Given the description of an element on the screen output the (x, y) to click on. 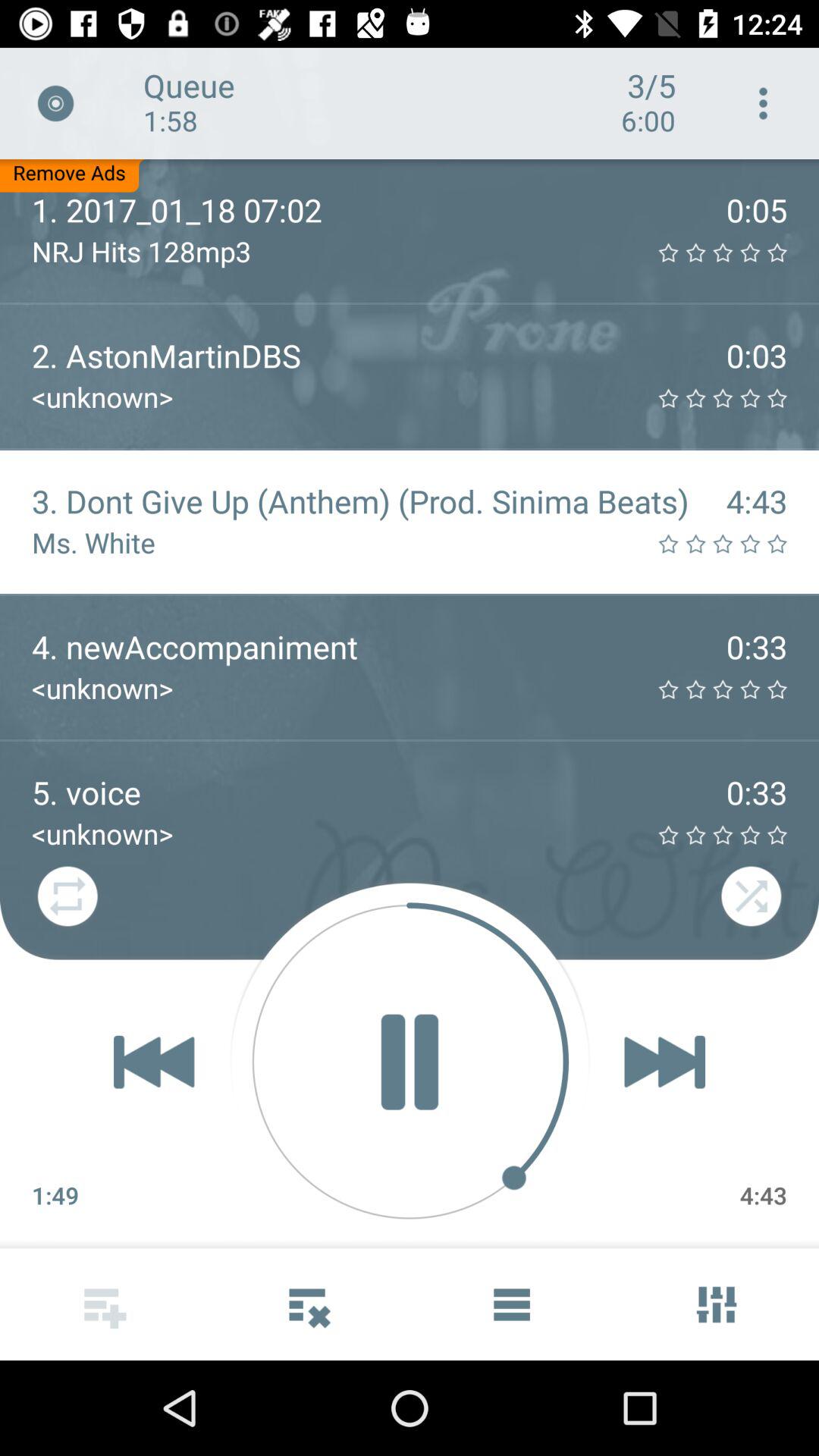
select the icon next to the 3/5 (763, 103)
